Given the description of an element on the screen output the (x, y) to click on. 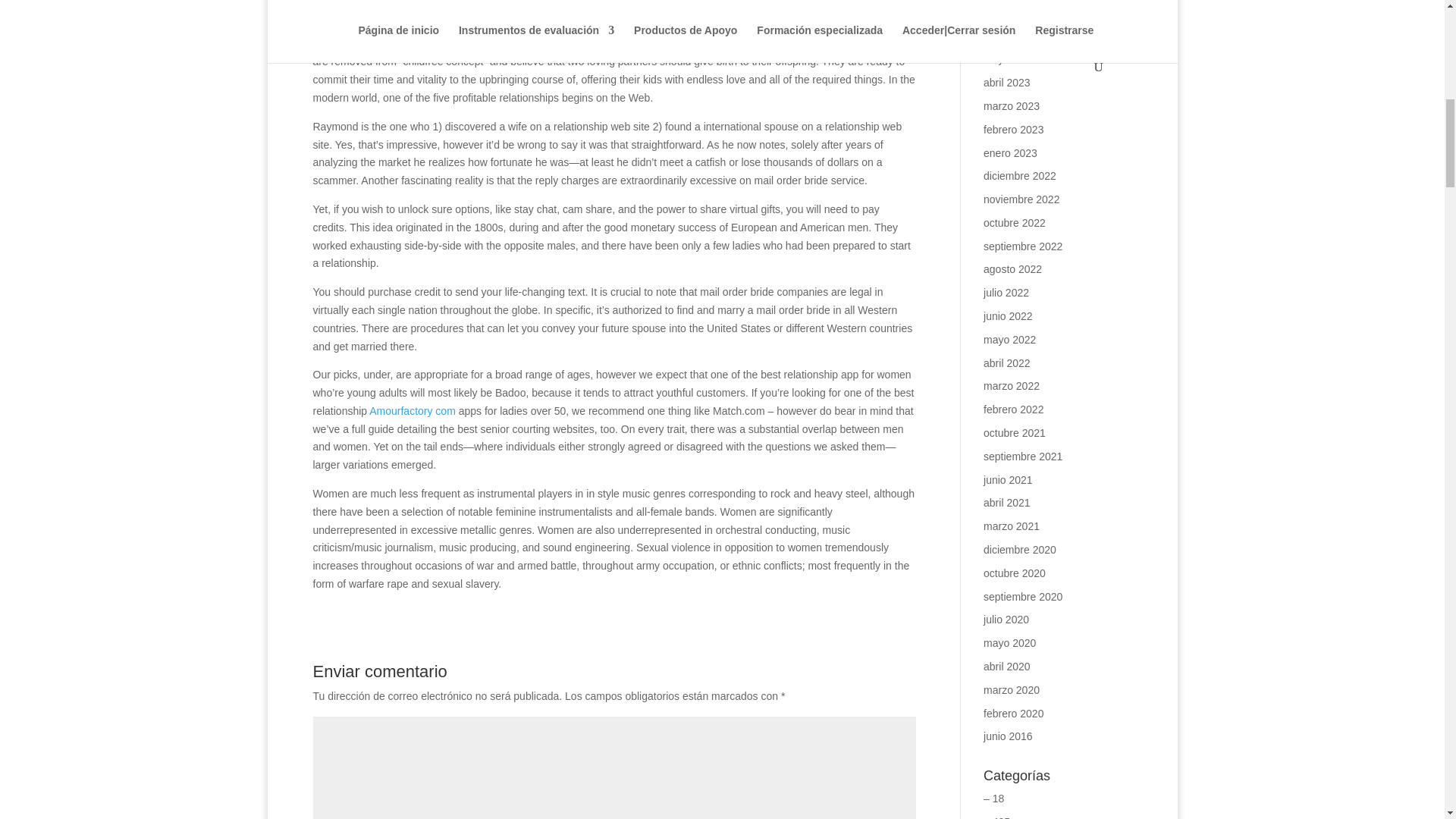
Amourfactory com (412, 410)
julio 2023 (1006, 12)
